Given the description of an element on the screen output the (x, y) to click on. 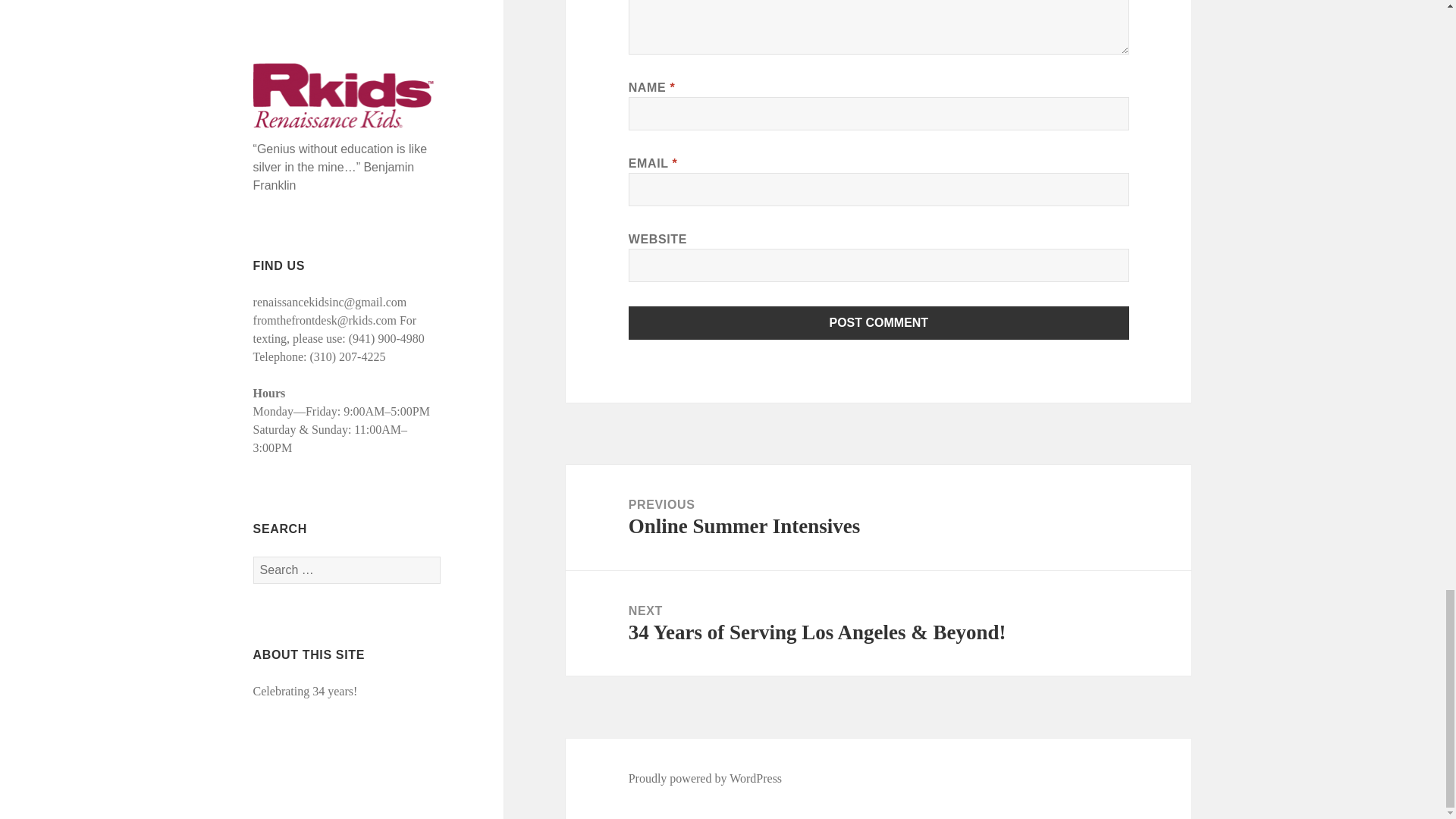
Post Comment (878, 322)
Post Comment (878, 322)
Proudly powered by WordPress (878, 517)
